Given the description of an element on the screen output the (x, y) to click on. 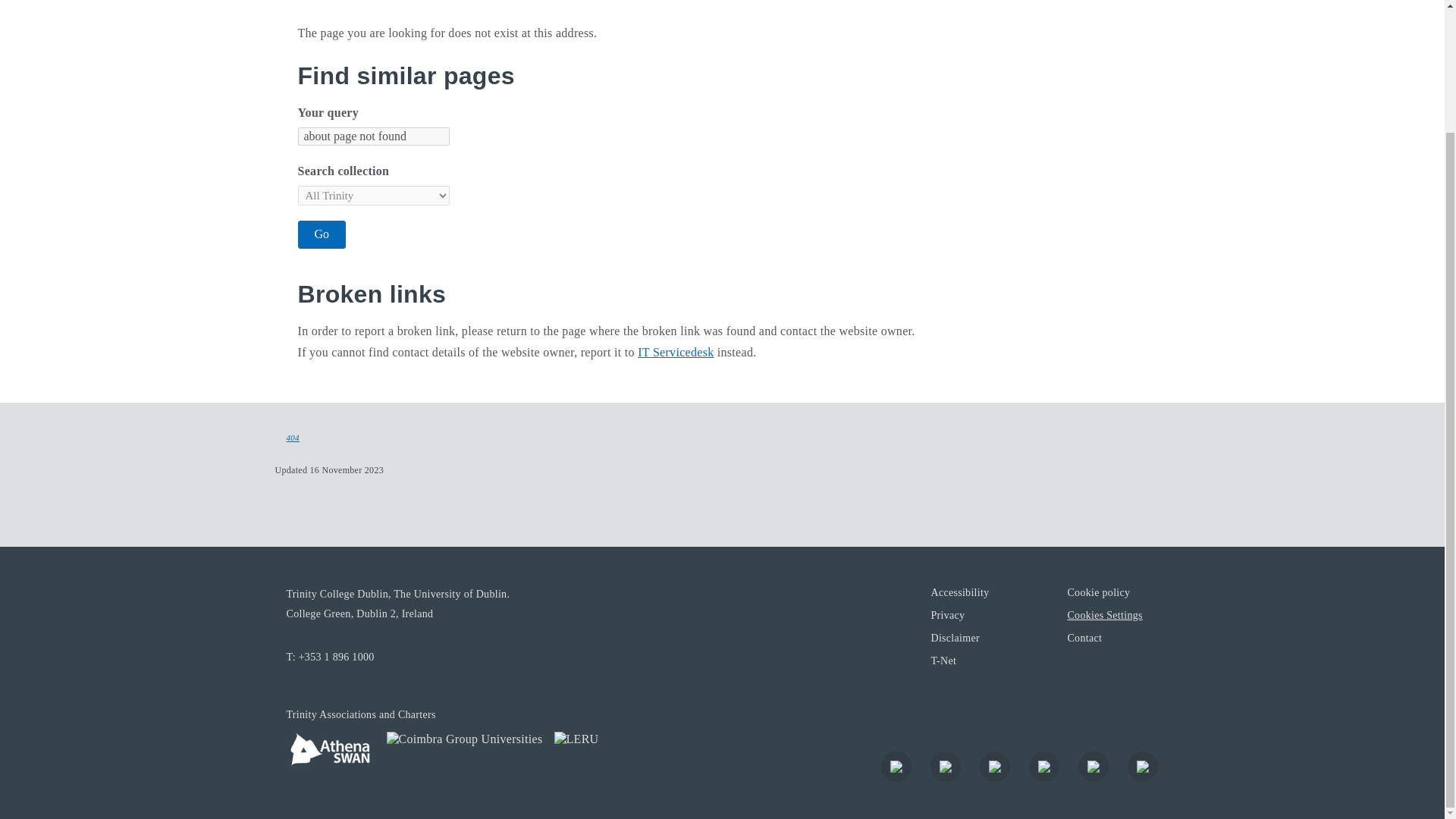
Cookie policy (1098, 591)
 about page not found  (372, 136)
Go (321, 234)
Accessibility (959, 591)
Cookies Settings (1104, 614)
IT Servicedesk (675, 351)
T-Net (943, 659)
Privacy (946, 614)
Contact (1084, 636)
Go (321, 234)
